Given the description of an element on the screen output the (x, y) to click on. 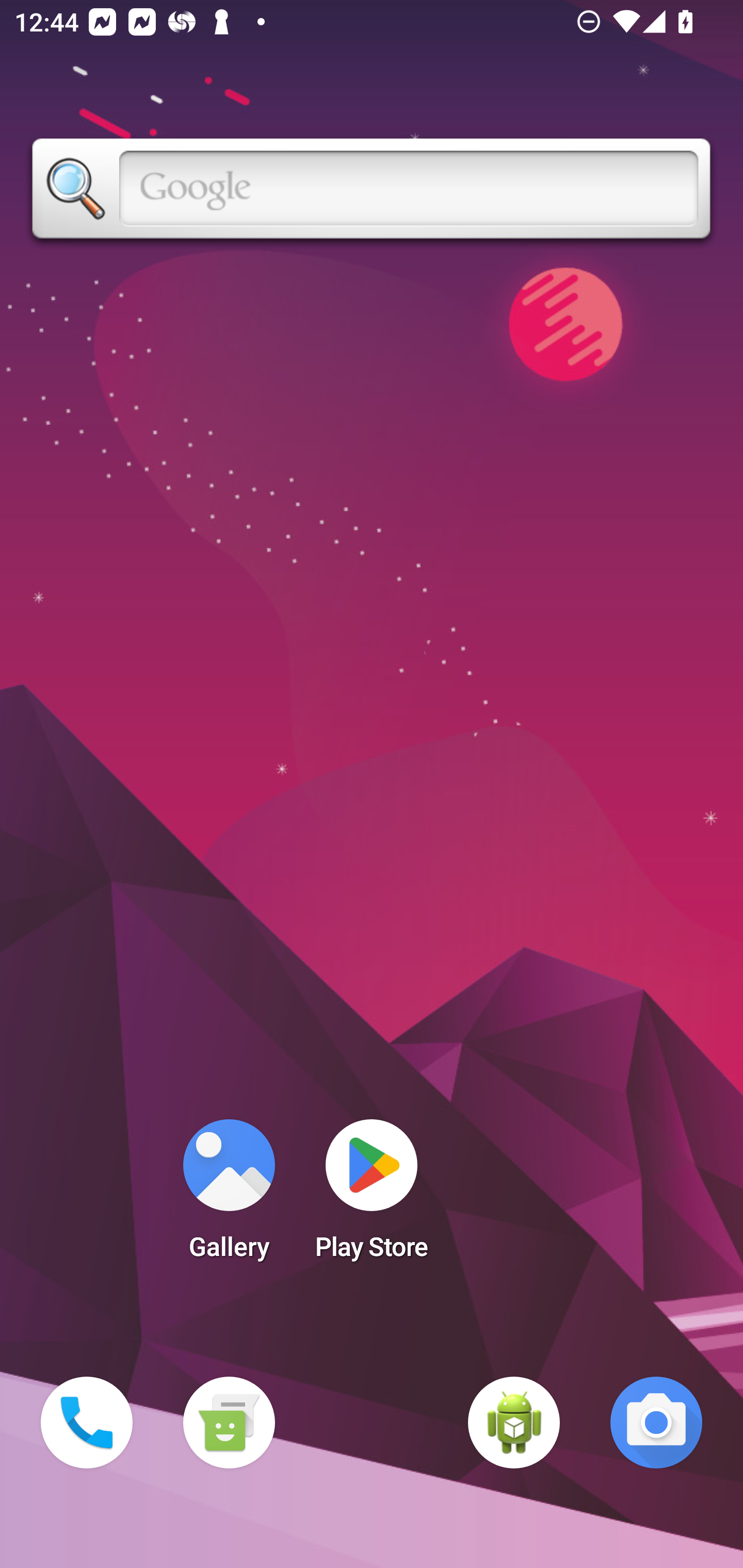
Gallery (228, 1195)
Play Store (371, 1195)
Phone (86, 1422)
Messaging (228, 1422)
WebView Browser Tester (513, 1422)
Camera (656, 1422)
